Given the description of an element on the screen output the (x, y) to click on. 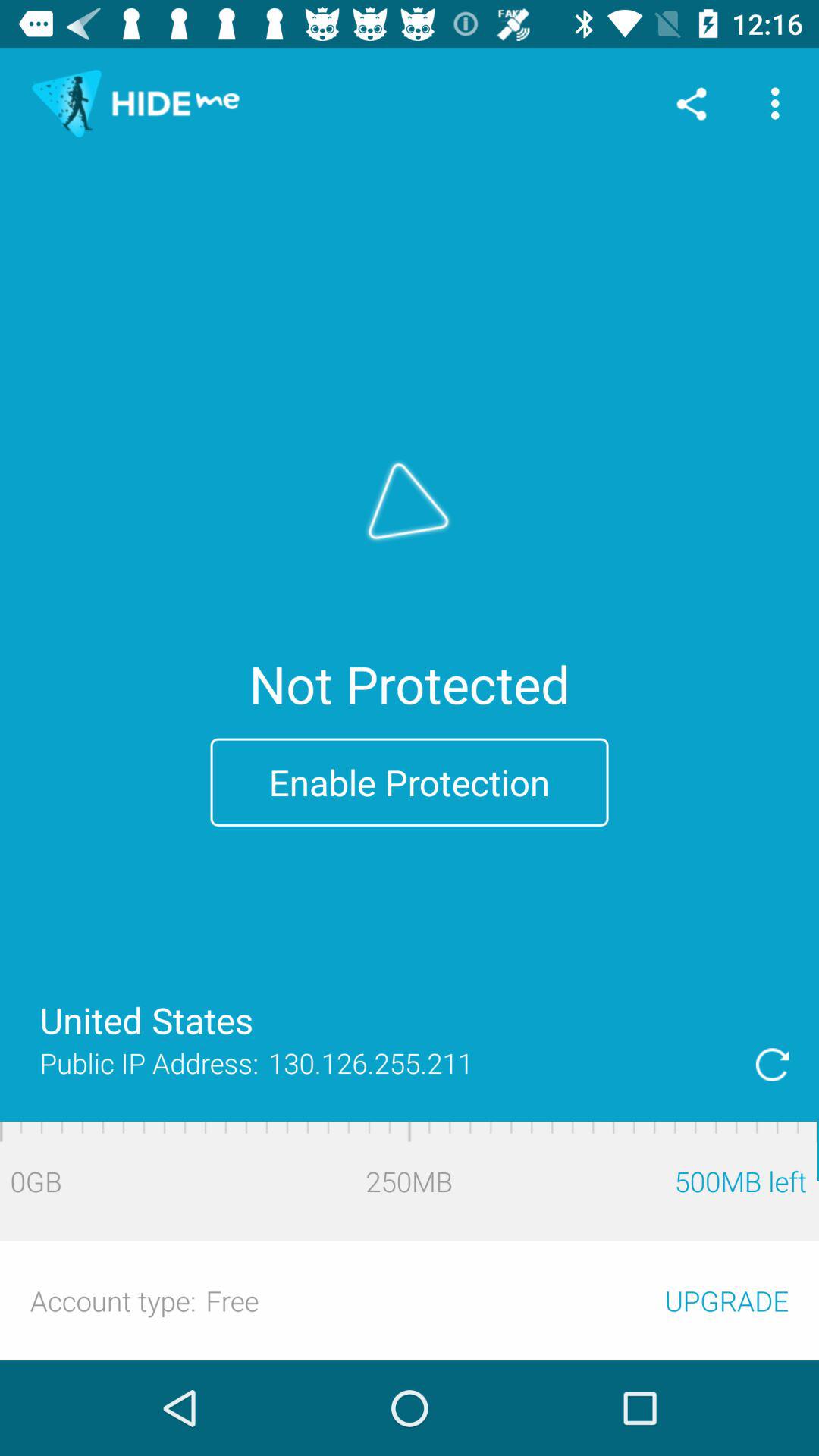
reload this information (772, 1064)
